Given the description of an element on the screen output the (x, y) to click on. 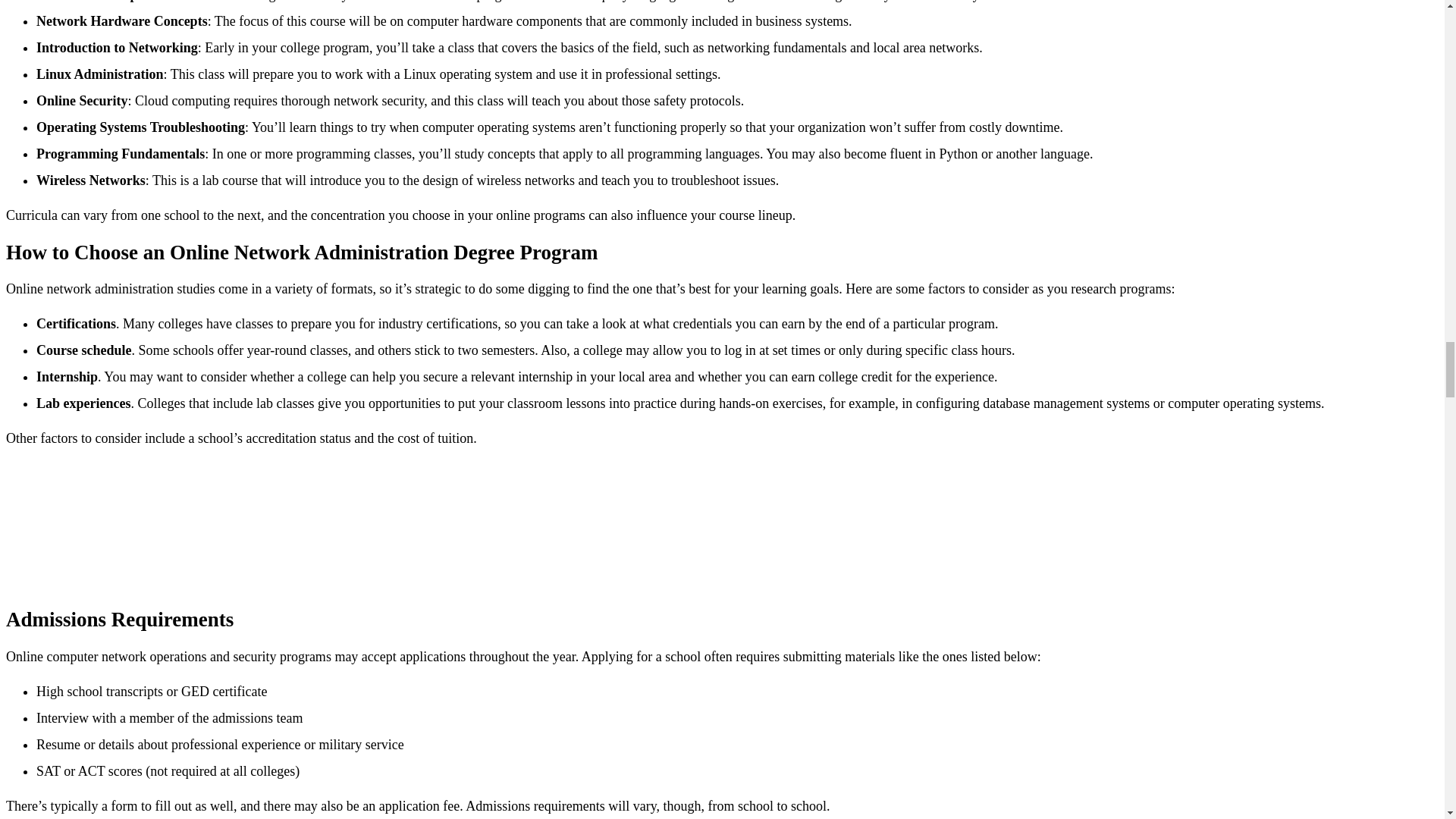
IoT products (118, 524)
